Given the description of an element on the screen output the (x, y) to click on. 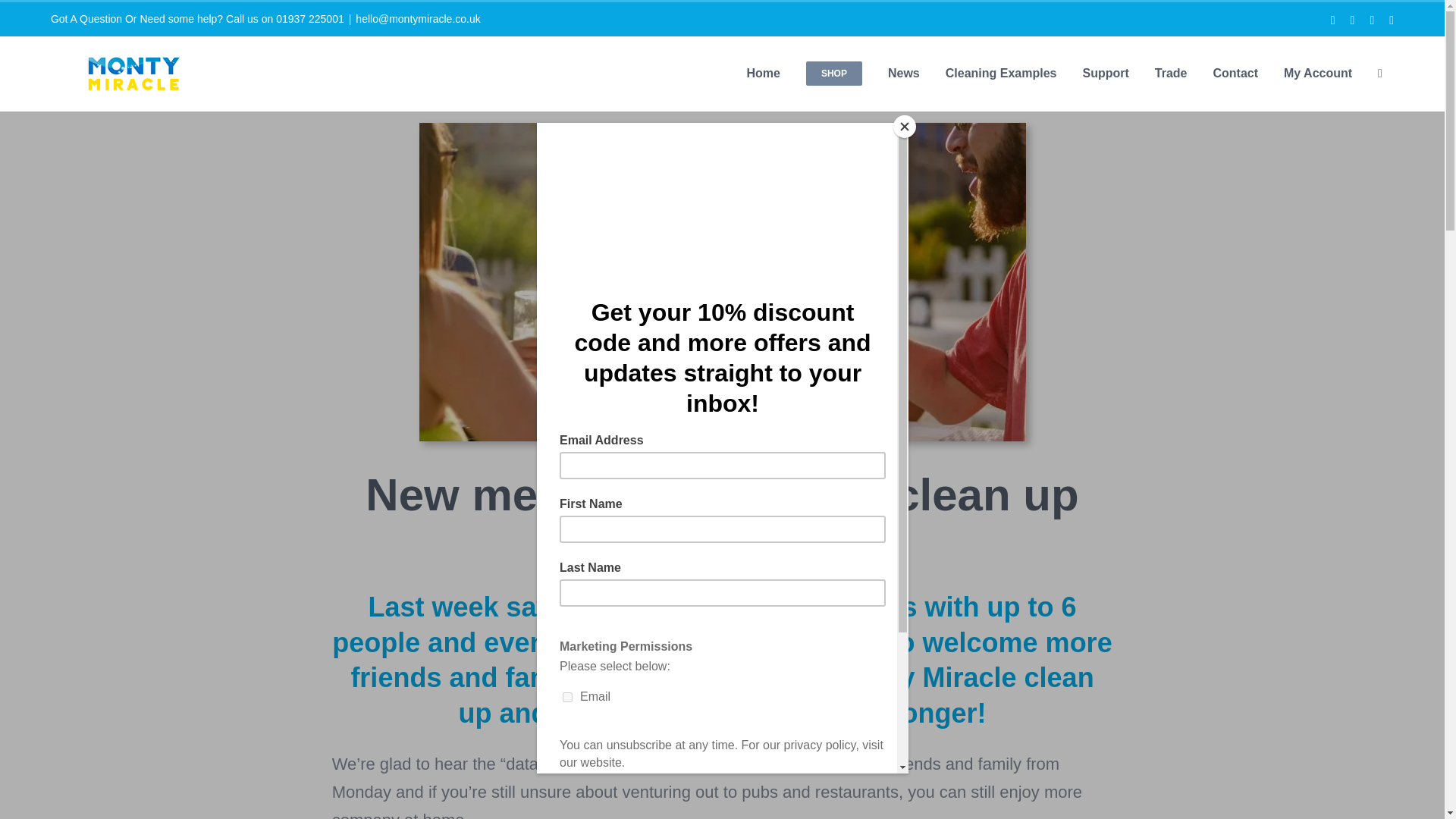
Cleaning Examples (1000, 73)
My Account (1318, 73)
01937 225001 (309, 19)
Log In (1378, 248)
